Given the description of an element on the screen output the (x, y) to click on. 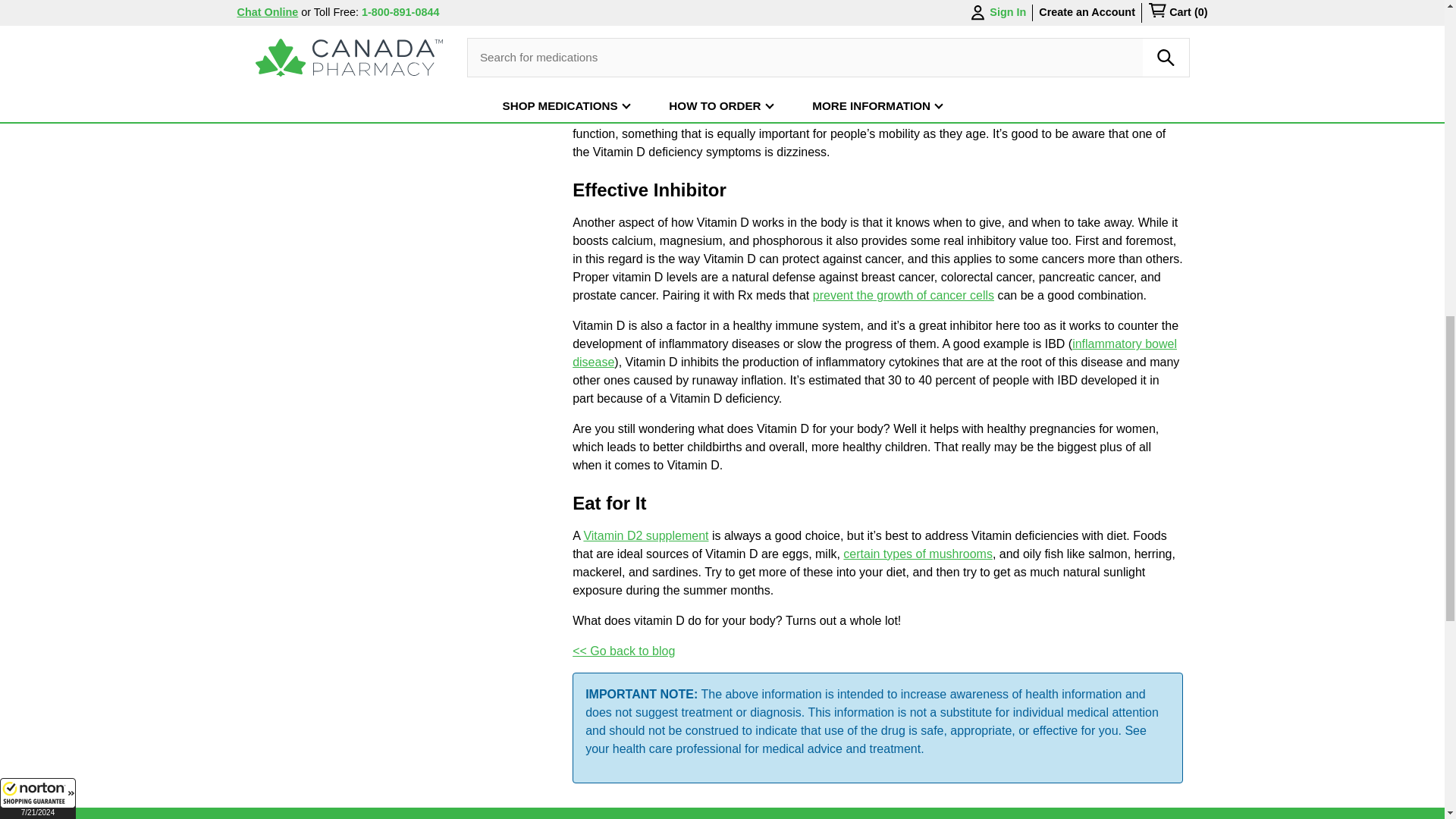
prevent the growth of cancer cells (903, 295)
inflammatory bowel disease (874, 352)
